Given the description of an element on the screen output the (x, y) to click on. 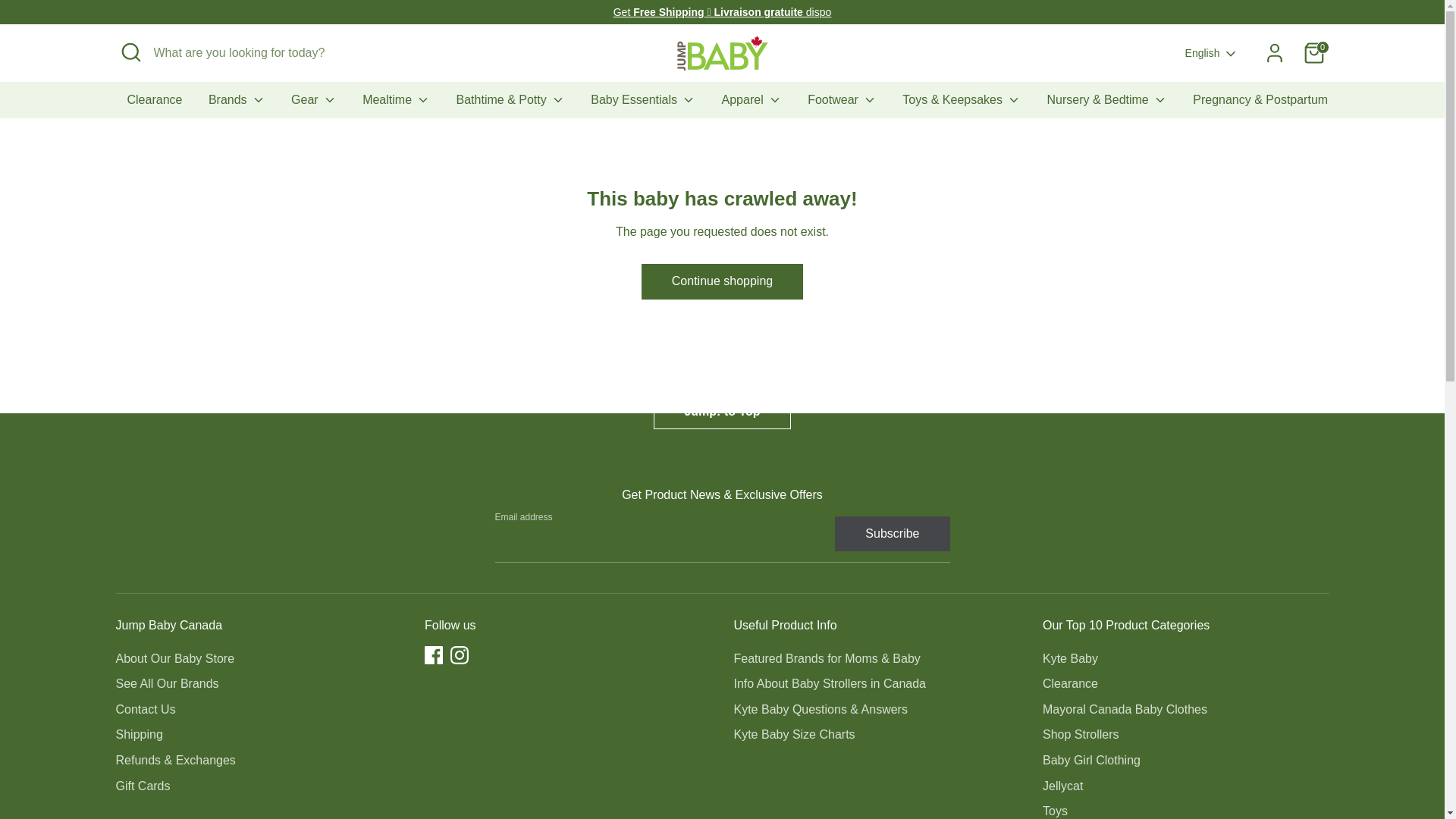
Shipping Policy (721, 11)
0 (1312, 52)
English (1212, 53)
